Given the description of an element on the screen output the (x, y) to click on. 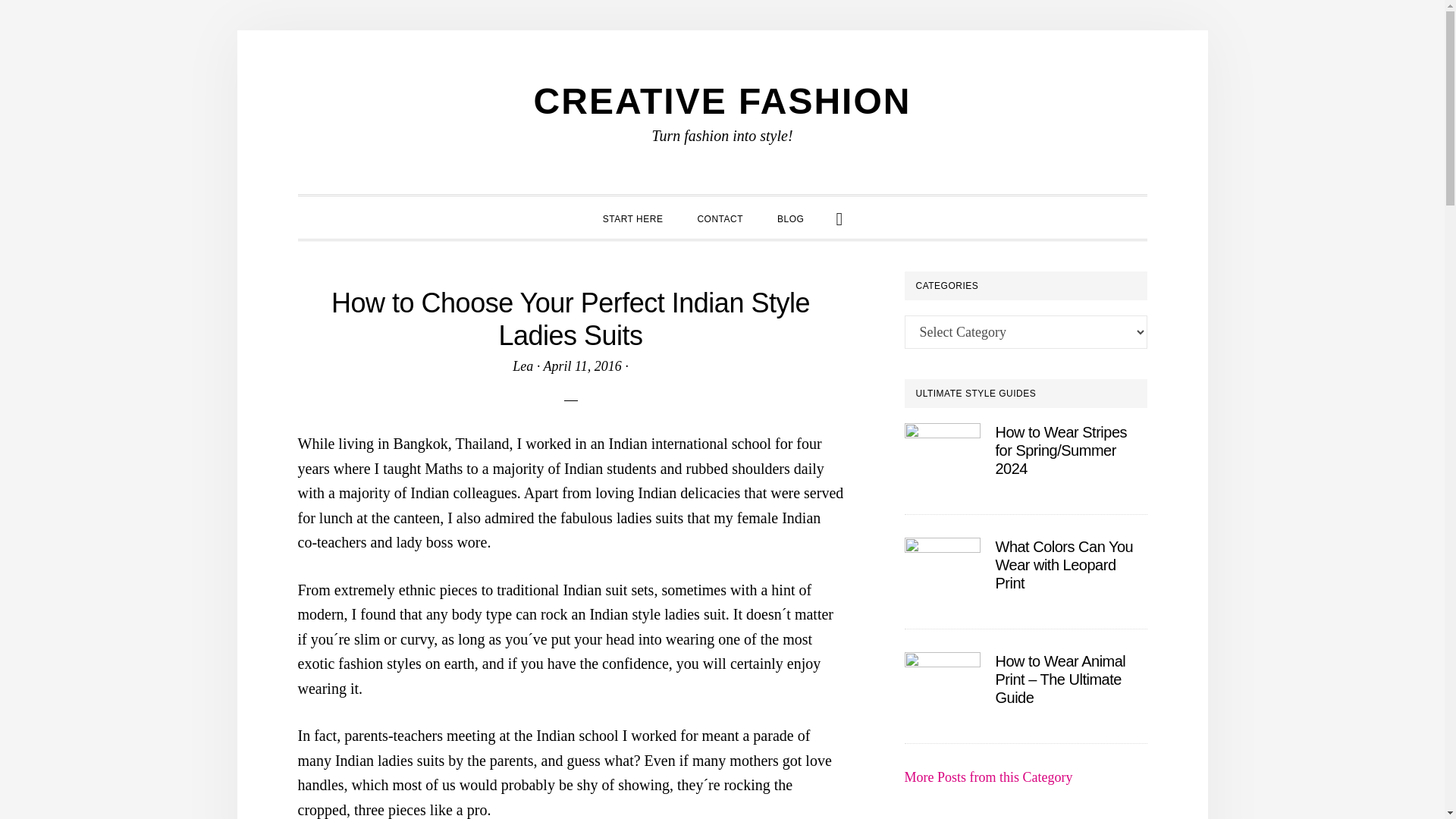
BLOG (789, 216)
CREATIVE FASHION (722, 101)
Lea (522, 365)
CONTACT (719, 216)
START HERE (633, 216)
Ultimate Style Guides (987, 776)
